Given the description of an element on the screen output the (x, y) to click on. 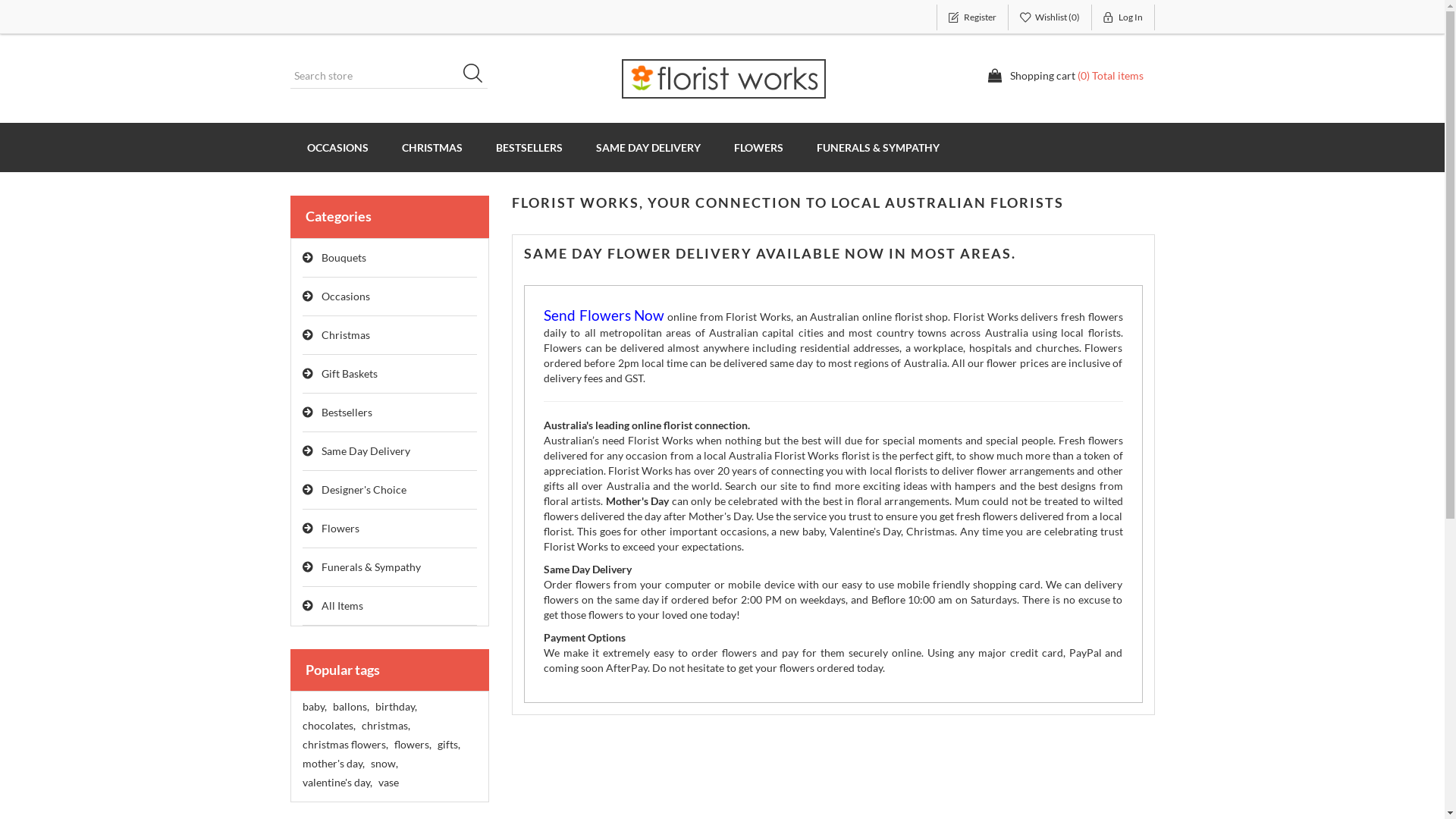
christmas, Element type: text (384, 725)
mother's day, Element type: text (332, 763)
chocolates, Element type: text (327, 725)
valentine's day, Element type: text (336, 782)
Gift Baskets Element type: text (388, 373)
CHRISTMAS Element type: text (432, 147)
SAME DAY DELIVERY Element type: text (648, 147)
Shopping cart (0) Total items Element type: text (1065, 75)
gifts, Element type: text (447, 744)
Same Day Delivery Element type: text (388, 451)
Wishlist (0) Element type: text (1050, 17)
baby, Element type: text (313, 706)
Send Flowers Now Element type: text (603, 316)
Designer's Choice Element type: text (388, 489)
All Items Element type: text (388, 605)
Flowers Element type: text (388, 528)
ballons, Element type: text (350, 706)
Christmas Element type: text (388, 335)
vase Element type: text (387, 782)
Bouquets Element type: text (388, 257)
Log In Element type: text (1123, 17)
flowers, Element type: text (412, 744)
Bestsellers Element type: text (388, 412)
snow, Element type: text (383, 763)
Register Element type: text (971, 17)
Occasions Element type: text (388, 296)
FUNERALS & SYMPATHY Element type: text (877, 147)
christmas flowers, Element type: text (344, 744)
FLOWERS Element type: text (758, 147)
Funerals & Sympathy Element type: text (388, 567)
OCCASIONS Element type: text (336, 147)
birthday, Element type: text (395, 706)
BESTSELLERS Element type: text (529, 147)
